Given the description of an element on the screen output the (x, y) to click on. 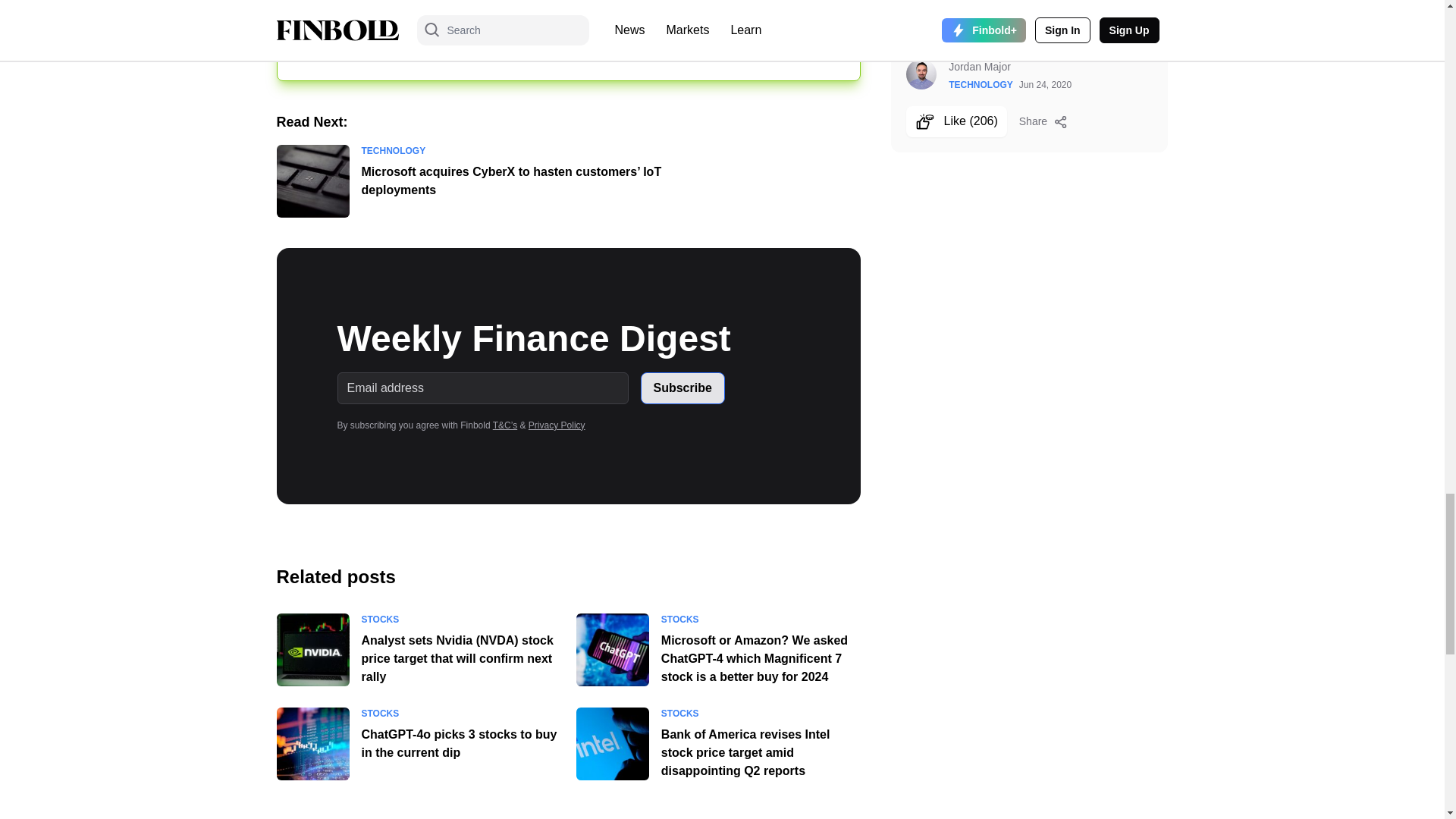
ChatGPT-4o picks 3 stocks to buy in the current dip (458, 743)
ChatGPT-4o picks 3 stocks to buy in the current dip (312, 743)
